Given the description of an element on the screen output the (x, y) to click on. 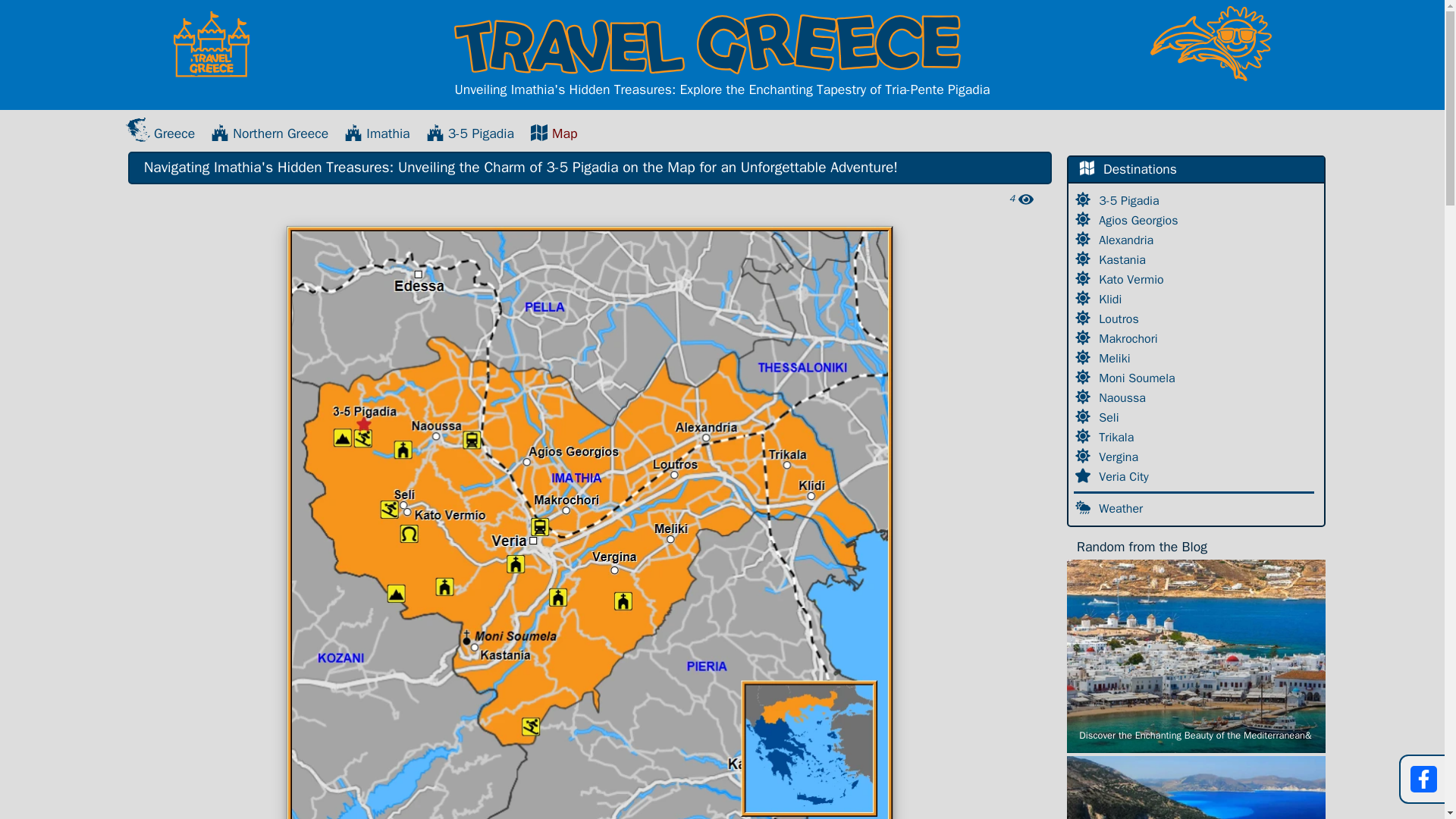
3-5 Pigadia (1130, 200)
Kastania (1124, 259)
3-5 Pigadia (469, 133)
Naoussa (1124, 397)
Seli (1110, 417)
Makrochori (1129, 338)
Greece (160, 133)
Kato Vermio (1133, 279)
The 10 Best Beaches In Greece For Sun And Surf (1195, 787)
Weather (1123, 508)
Veria City (1126, 476)
Alexandria (1128, 240)
Vergina (1120, 457)
The 10 Best Beaches In Greece For Sun And Surf (1195, 787)
Moni Soumela (1138, 378)
